Given the description of an element on the screen output the (x, y) to click on. 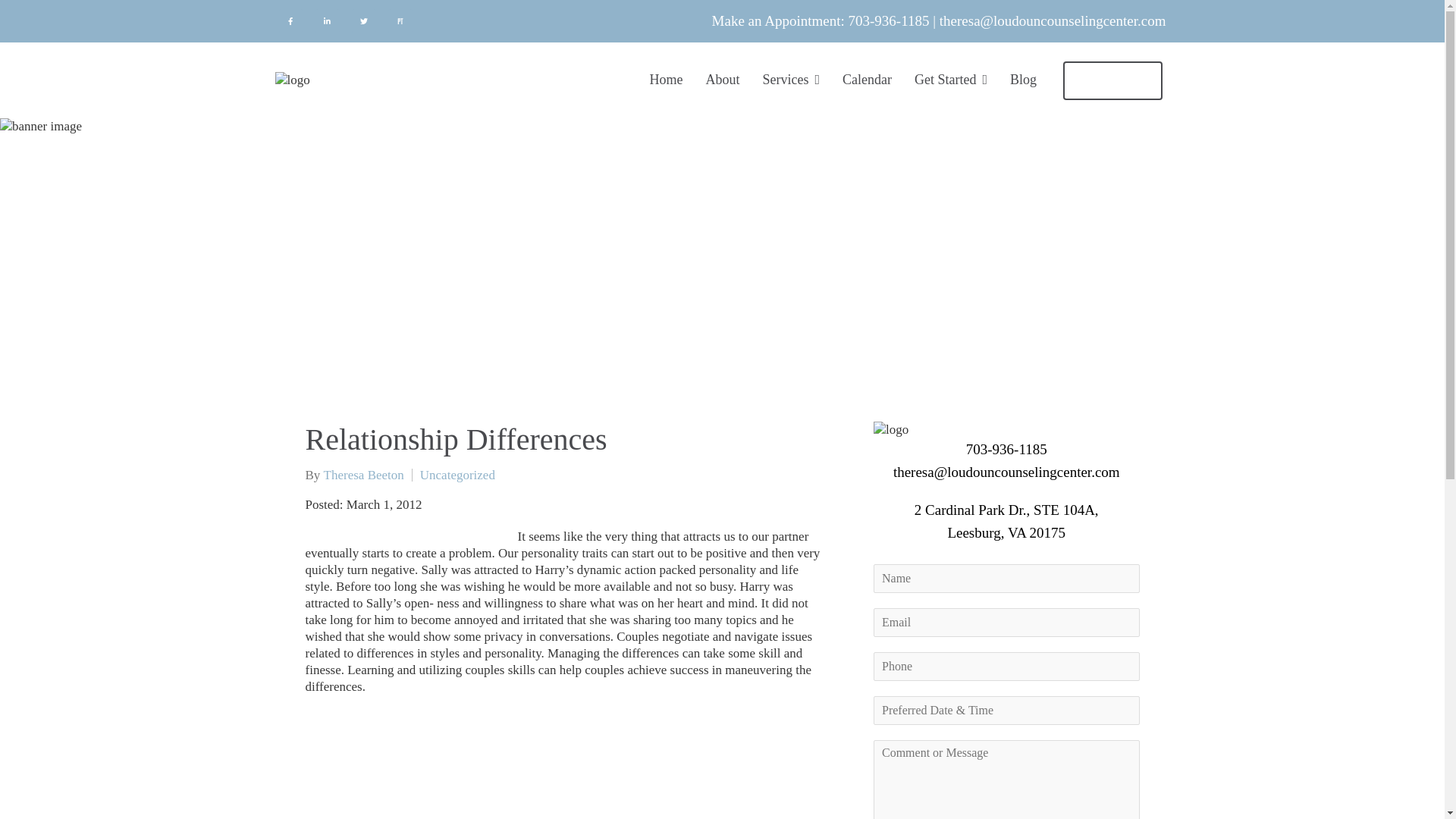
Get Started (950, 80)
Calendar (867, 80)
Blog (1023, 80)
Services (791, 80)
About (721, 80)
Home (665, 80)
Contact (1111, 79)
703-936-1185 (889, 20)
